Given the description of an element on the screen output the (x, y) to click on. 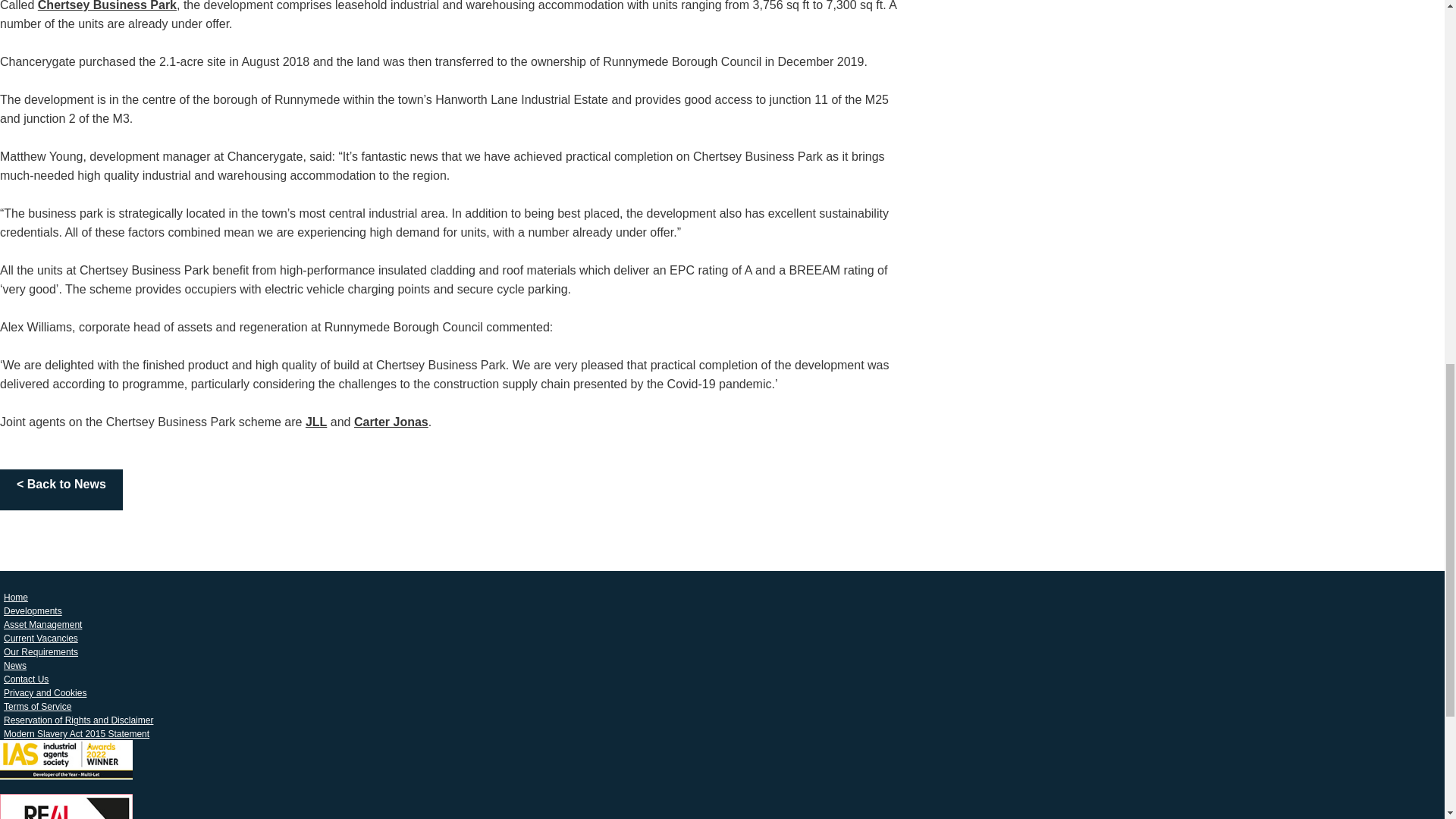
Privacy and Cookies (45, 692)
Modern Slavery Act 2015 Statement (76, 733)
Current Vacancies (40, 638)
Chertsey Business Park (106, 5)
Carter Jonas (390, 421)
News (15, 665)
Reservation of Rights and Disclaimer (78, 720)
JLL (315, 421)
Home (16, 597)
Developments (32, 610)
Home (16, 597)
Privacy and Cookies (45, 692)
Our Requirements (40, 651)
Developments (32, 610)
Terms of Service (37, 706)
